Given the description of an element on the screen output the (x, y) to click on. 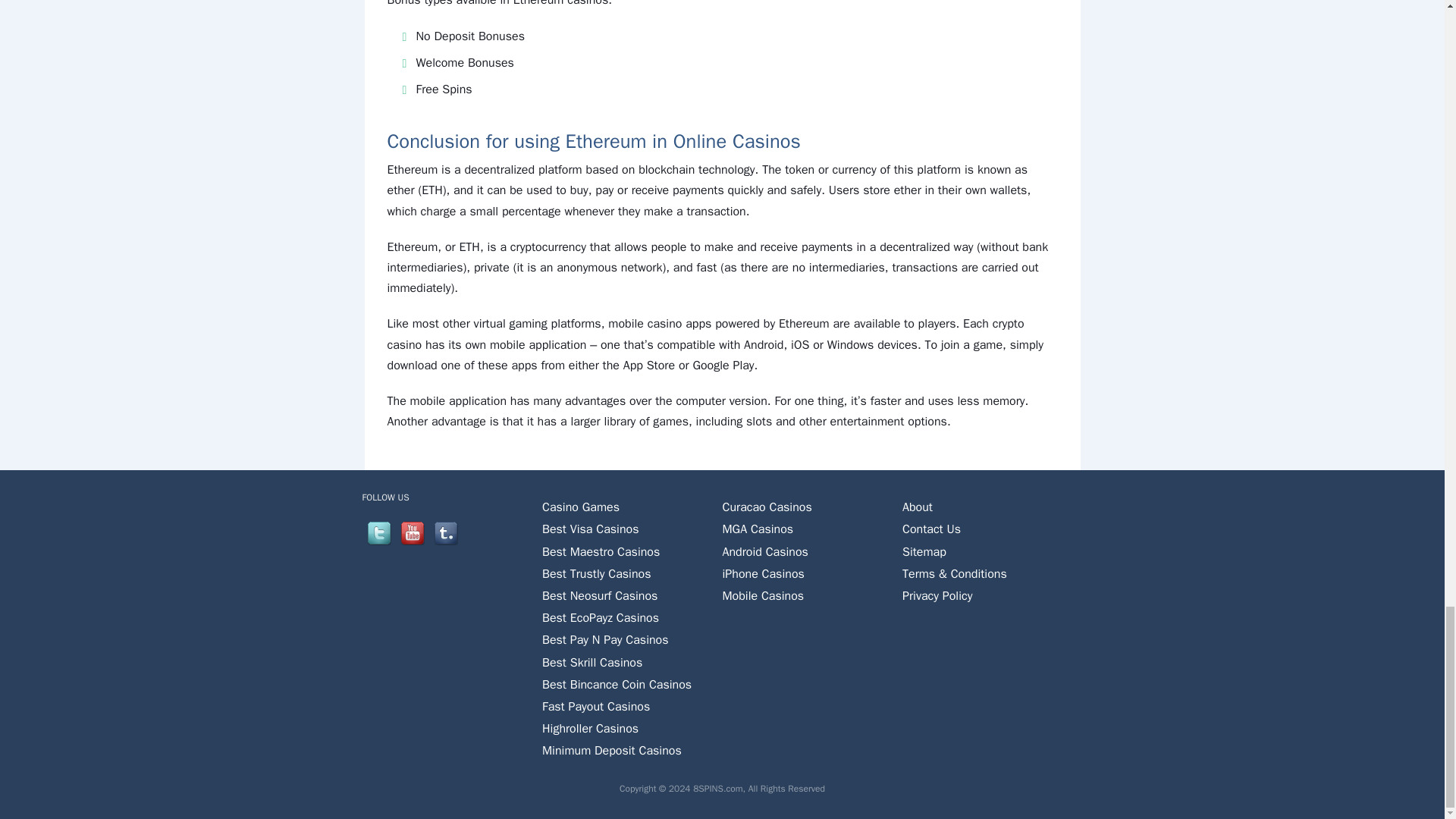
Follow us on Youtube (412, 532)
Follow us on Twitter (378, 532)
Follow us on Tumblr (445, 532)
